Given the description of an element on the screen output the (x, y) to click on. 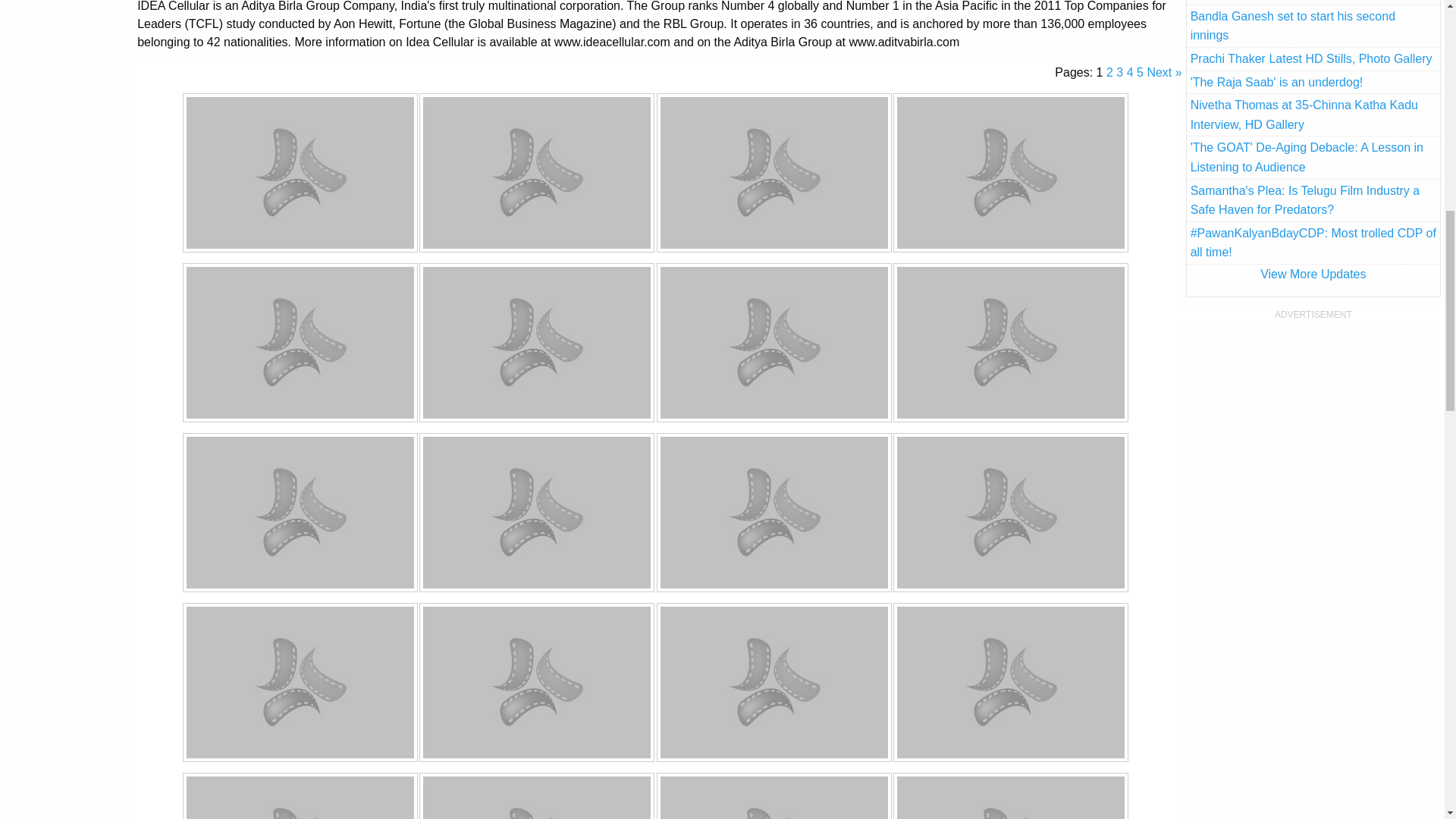
61st Idea Filmfare Awards 2013 Nominations Press Meet (1009, 172)
61st Idea Filmfare Awards 2013 Nominations Press Meet (299, 796)
61st Idea Filmfare Awards 2013 Nominations Press Meet (774, 342)
61st Idea Filmfare Awards 2013 Nominations Press Meet (536, 796)
61st Idea Filmfare Awards 2013 Nominations Press Meet (536, 512)
61st Idea Filmfare Awards 2013 Nominations Press Meet (299, 172)
61st Idea Filmfare Awards 2013 Nominations Press Meet (774, 512)
61st Idea Filmfare Awards 2013 Nominations Press Meet (536, 172)
61st Idea Filmfare Awards 2013 Nominations Press Meet (299, 512)
61st Idea Filmfare Awards 2013 Nominations Press Meet (774, 172)
